Given the description of an element on the screen output the (x, y) to click on. 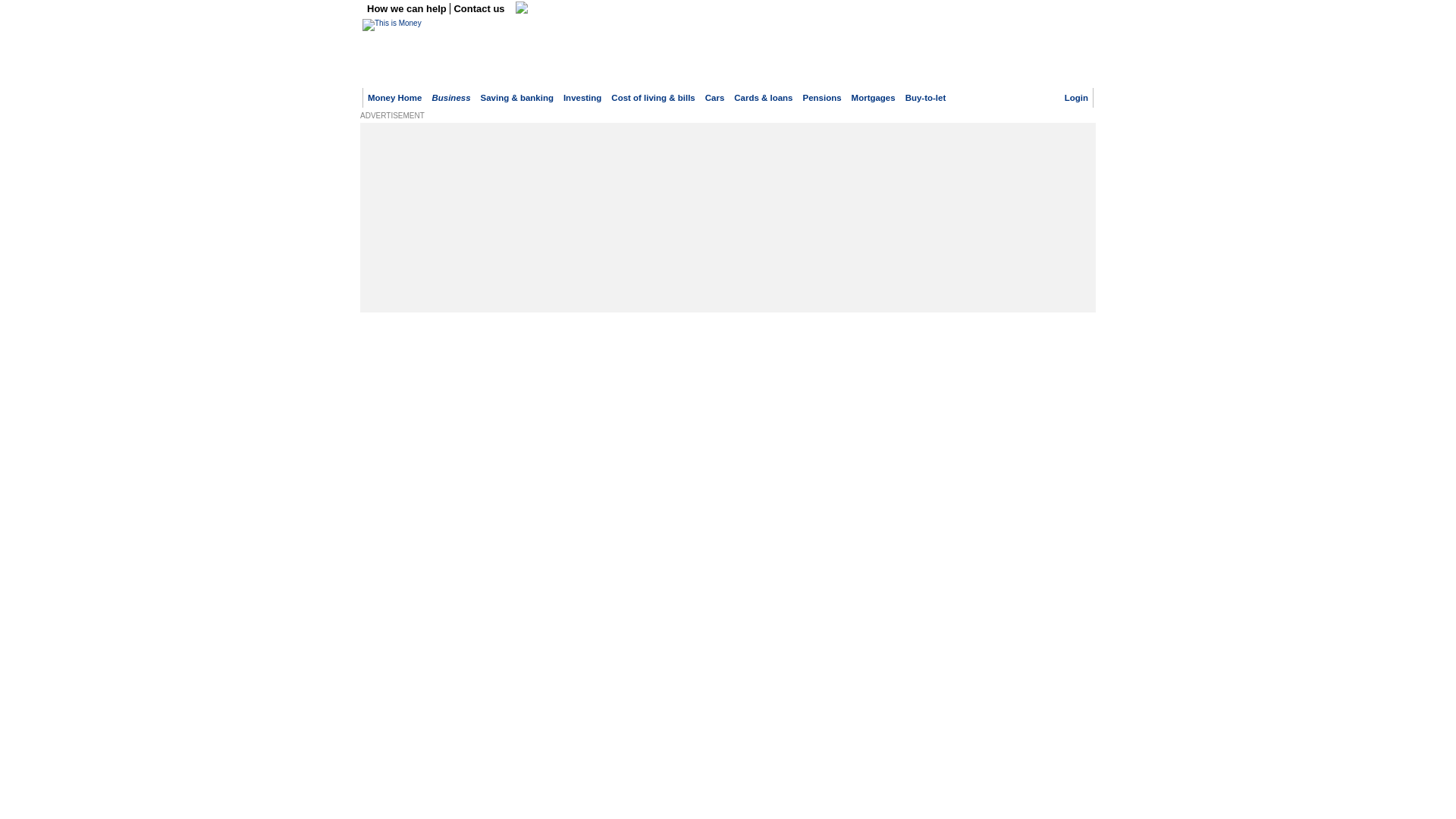
Buy-to-let (925, 97)
Business (450, 97)
Money Home (395, 97)
Investing (582, 97)
Cars (714, 97)
Mortgages (873, 97)
Contact us (479, 8)
How we can help (407, 8)
Pensions (822, 97)
Login (1075, 97)
